Given the description of an element on the screen output the (x, y) to click on. 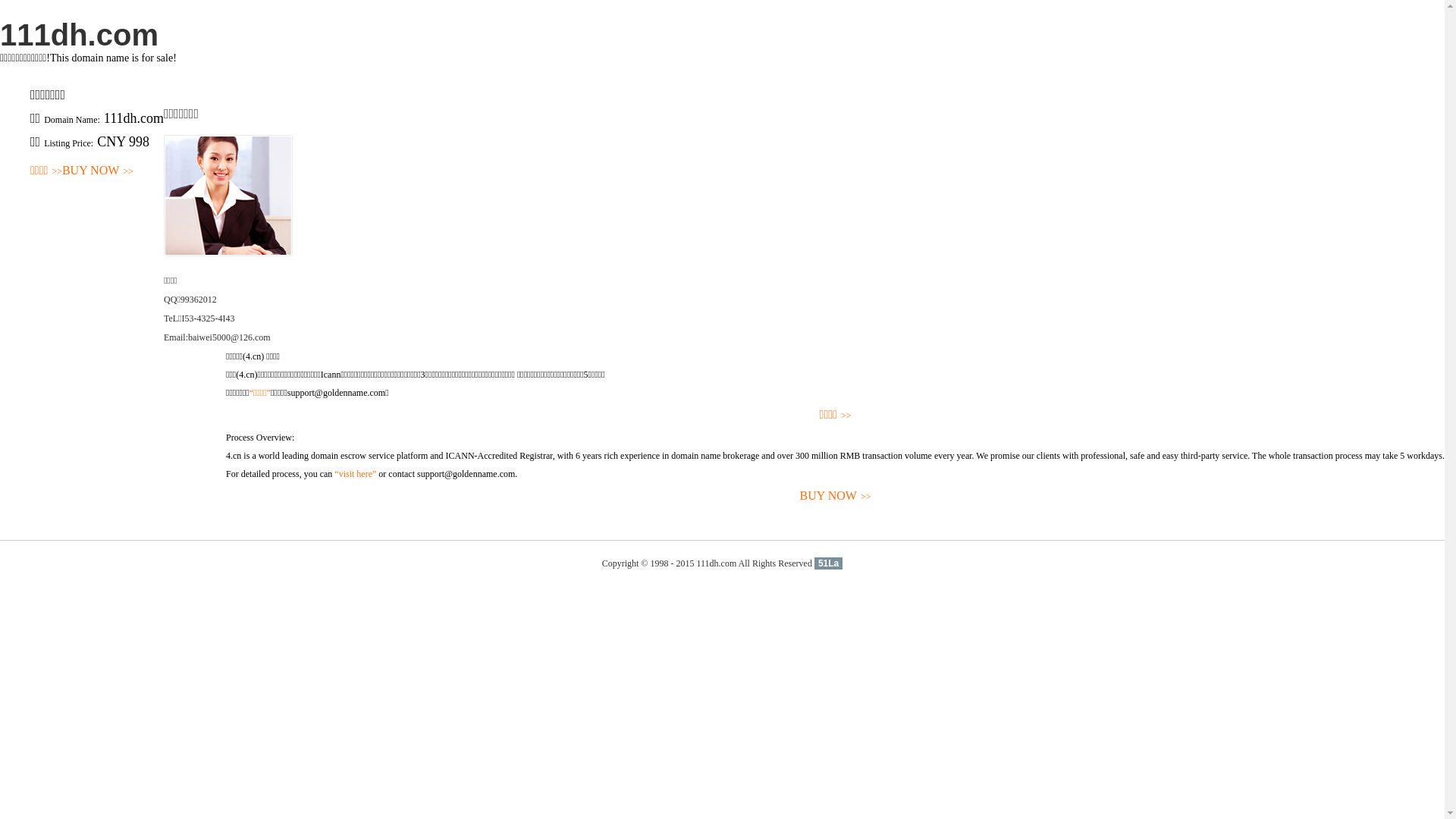
51La Element type: text (828, 563)
BUY NOW>> Element type: text (834, 496)
BUY NOW>> Element type: text (97, 170)
